Given the description of an element on the screen output the (x, y) to click on. 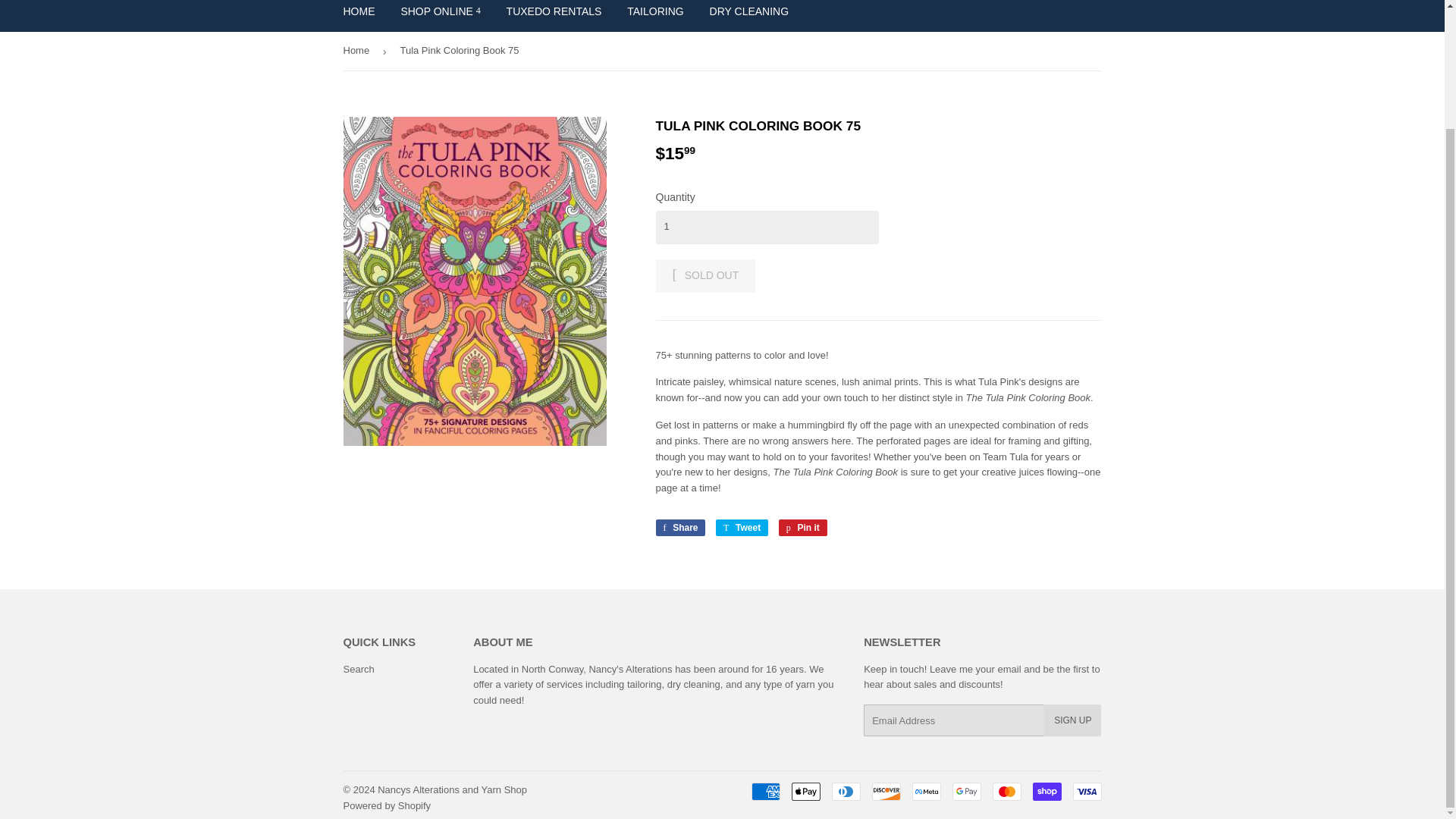
Visa (1085, 791)
HOME (359, 15)
Shop Pay (1046, 791)
Google Pay (966, 791)
1 (766, 227)
SHOP ONLINE (440, 15)
Tweet on Twitter (742, 527)
Meta Pay (925, 791)
Discover (886, 791)
Share on Facebook (679, 527)
